Given the description of an element on the screen output the (x, y) to click on. 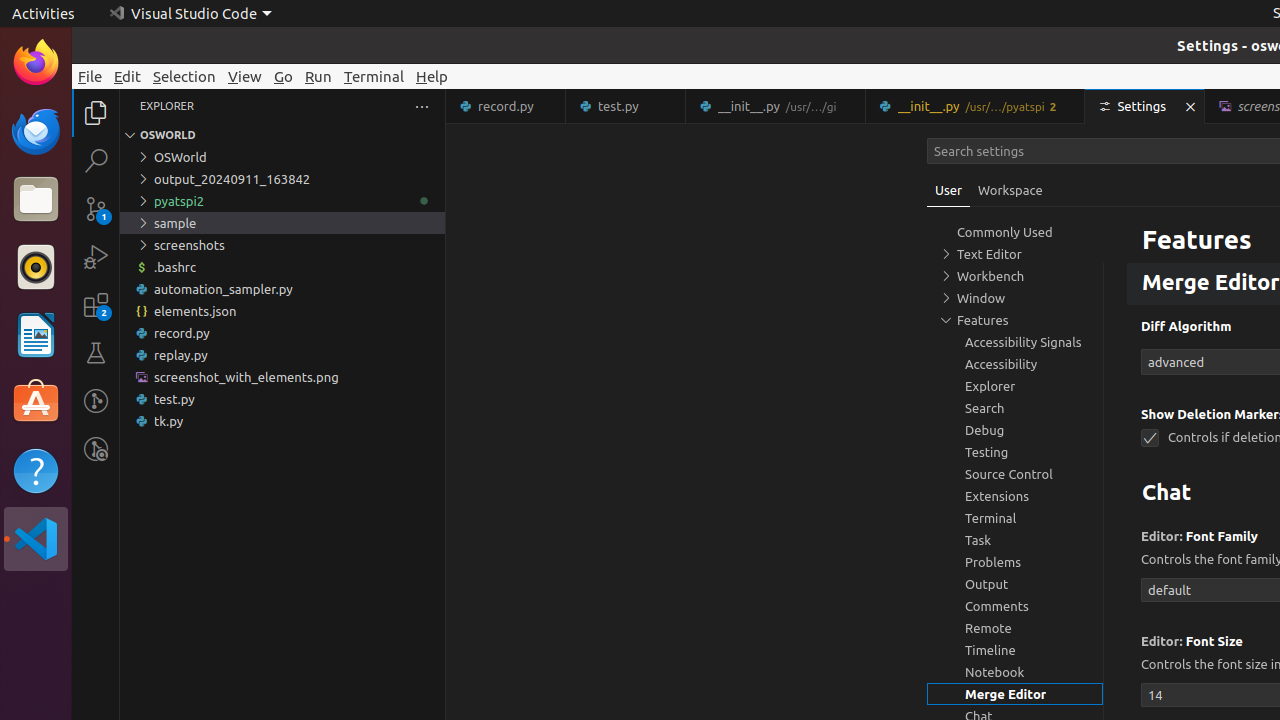
User Element type: check-box (949, 190)
Timeline, group Element type: tree-item (1015, 650)
Search, group Element type: tree-item (1015, 408)
File Element type: push-button (90, 76)
